Given the description of an element on the screen output the (x, y) to click on. 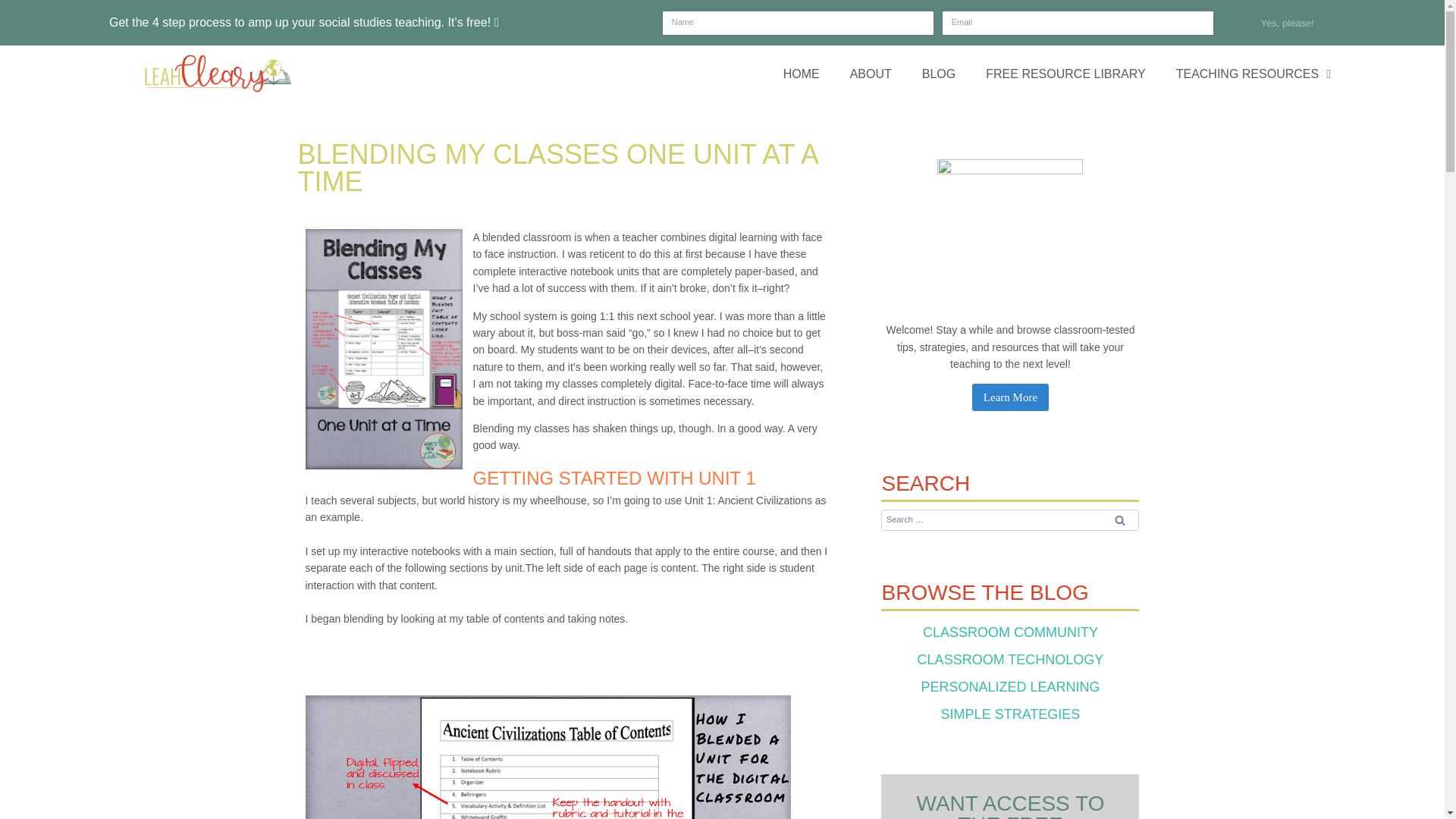
Yes, please! (1287, 23)
Search (1119, 519)
ABOUT (870, 73)
TEACHING RESOURCES (1252, 73)
FREE RESOURCE LIBRARY (1065, 73)
BLOG (939, 73)
Search (1119, 519)
HOME (801, 73)
